Given the description of an element on the screen output the (x, y) to click on. 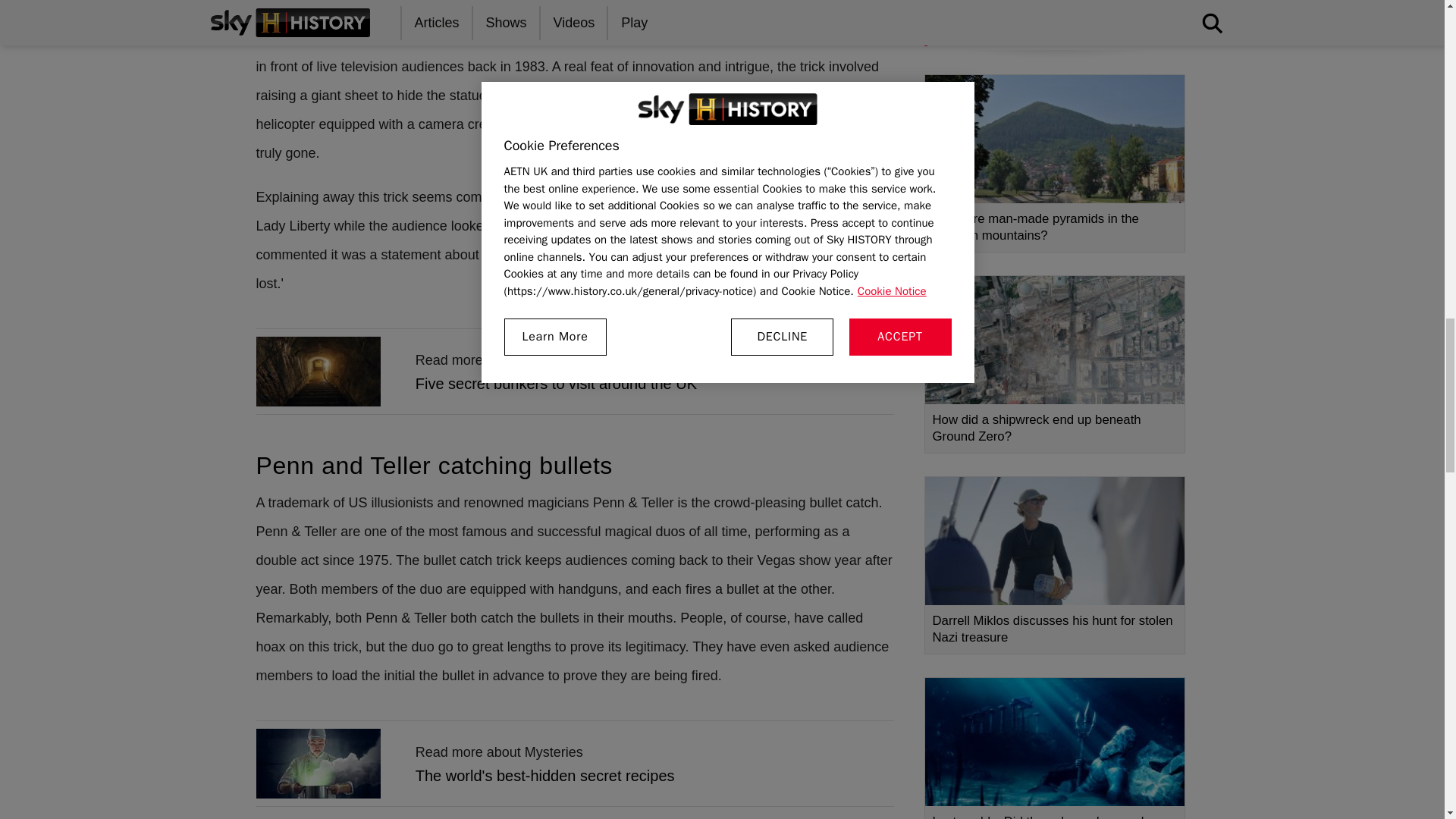
How did a shipwreck end up beneath Ground Zero? (1054, 364)
Darrell Miklos discusses his hunt for stolen Nazi treasure (1054, 564)
Lost worlds: Did these legendary sunken lands really exist? (1054, 748)
Are there man-made pyramids in the Bosnian mountains? (1054, 163)
